Given the description of an element on the screen output the (x, y) to click on. 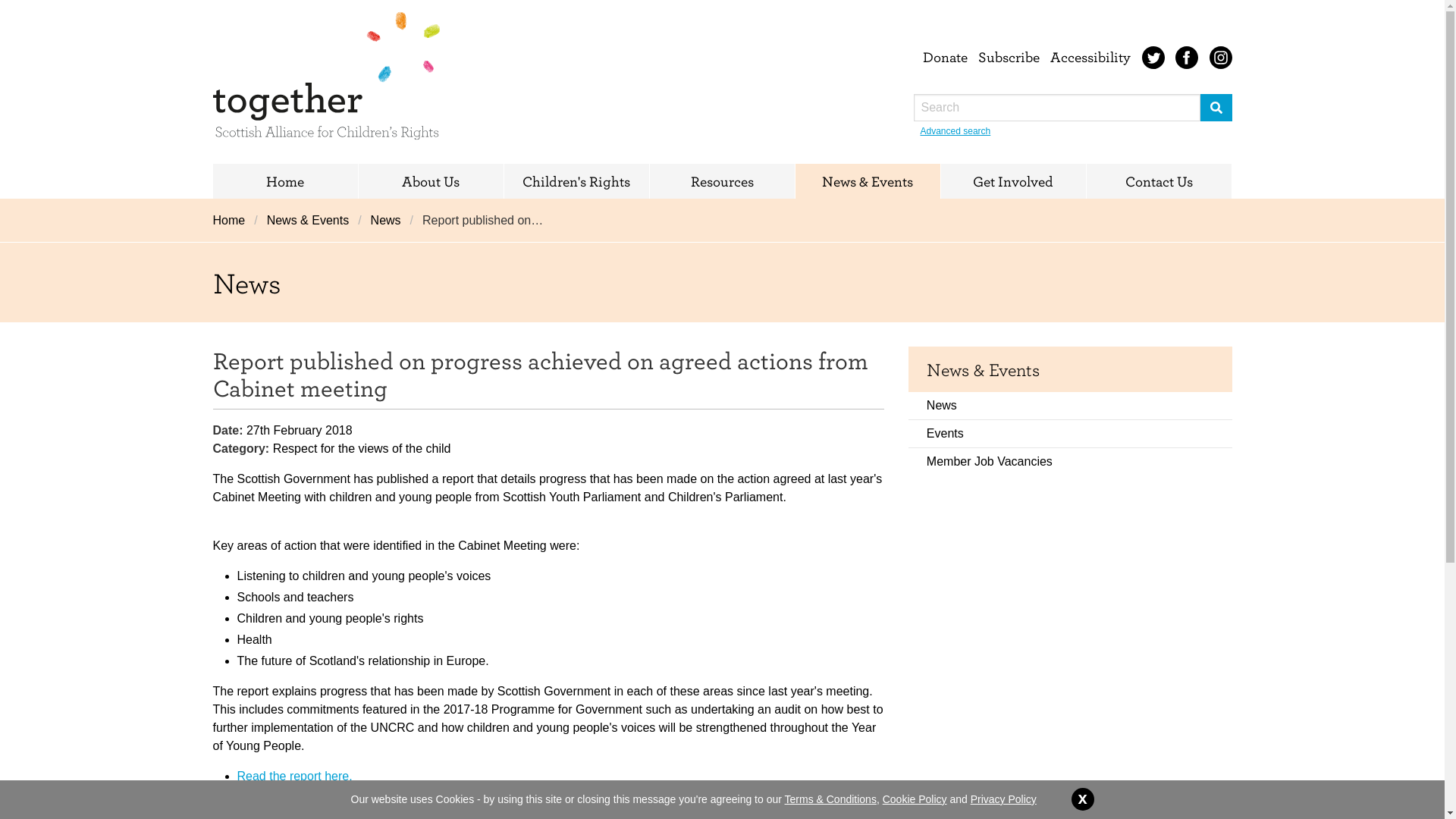
Children's Rights (575, 181)
Terms and Conditions (830, 799)
Home (284, 181)
About Us (430, 181)
Donate (945, 56)
Home (232, 220)
Member Job Vacancies (1069, 461)
Cookie Policy (914, 799)
Privacy Policy (1003, 799)
Advanced search (955, 131)
Accessibility (1090, 56)
Events (1069, 433)
Resources (721, 181)
Contact Us (1158, 181)
Subscribe (1008, 56)
